Given the description of an element on the screen output the (x, y) to click on. 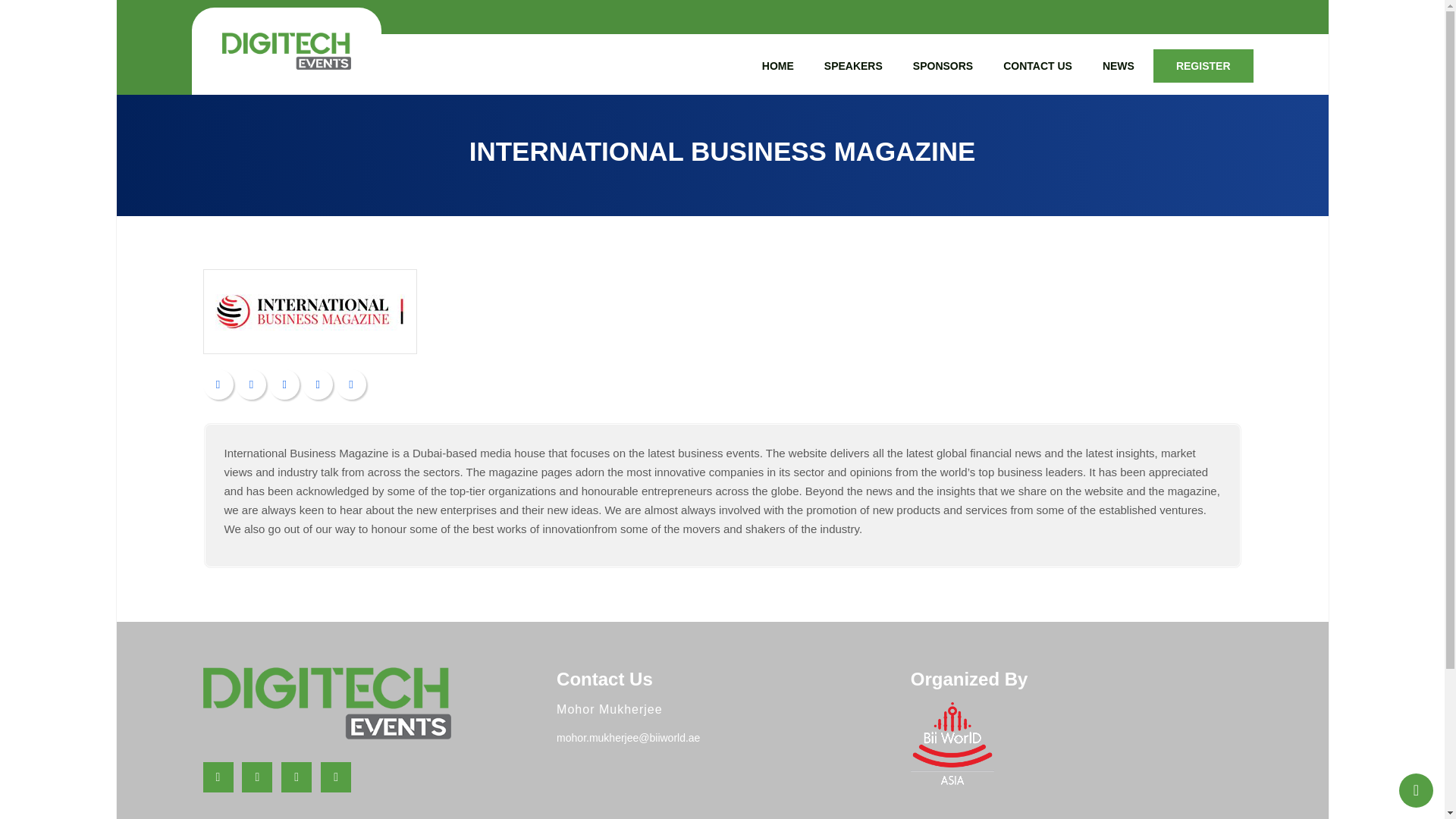
REGISTER (1203, 66)
HOME (778, 66)
NEWS (1117, 66)
SPONSORS (942, 66)
CONTACT US (1037, 66)
SPEAKERS (852, 66)
Technology Digital Transformation Innovation (285, 50)
Back To Top (1415, 790)
